Given the description of an element on the screen output the (x, y) to click on. 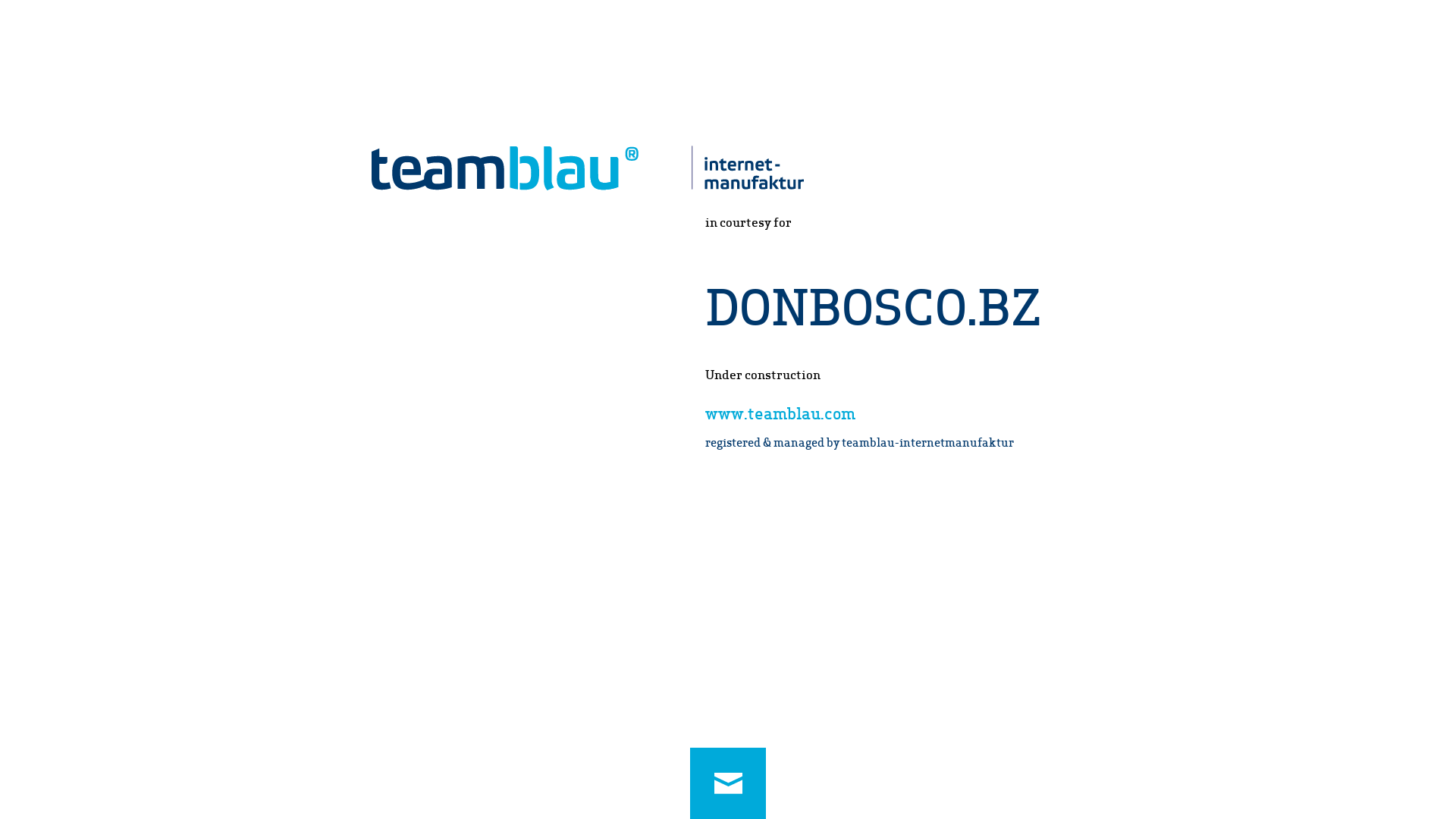
www.teamblau.com Element type: text (780, 412)
teamblau - internetmanufaktur Element type: hover (587, 167)
